Given the description of an element on the screen output the (x, y) to click on. 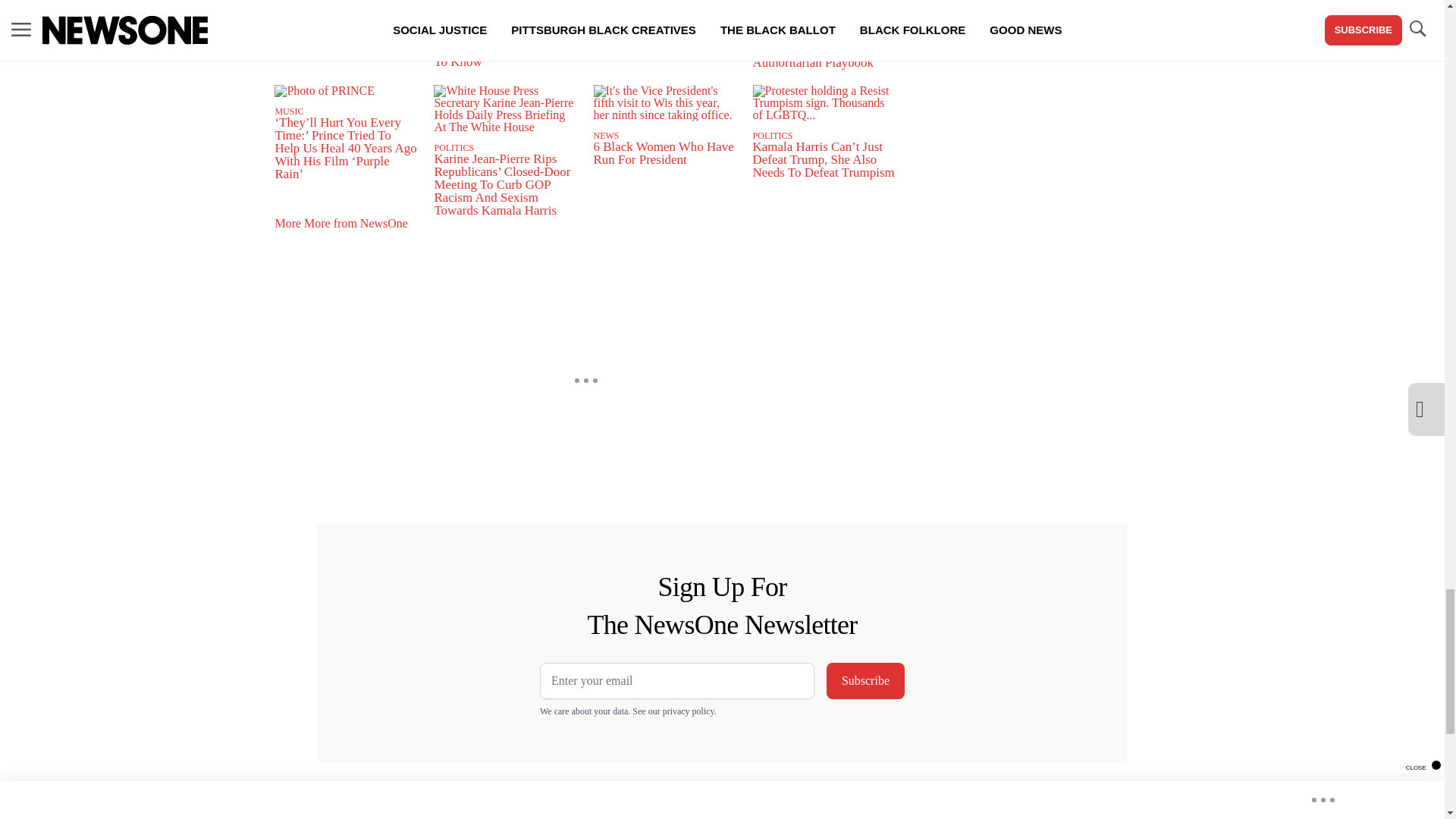
OPINION (293, 12)
